Given the description of an element on the screen output the (x, y) to click on. 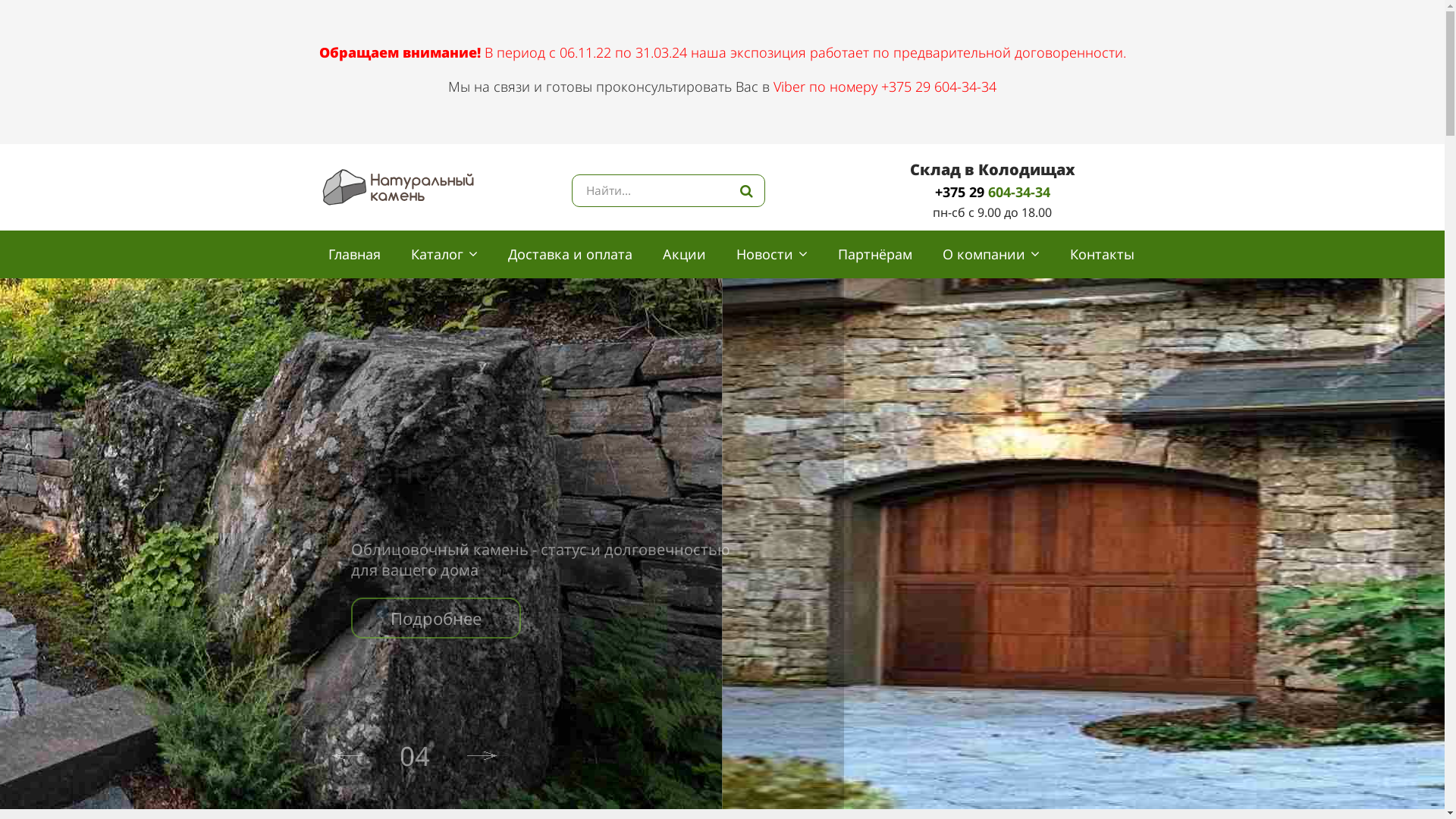
+375 29 604-34-34 Element type: text (992, 191)
